Given the description of an element on the screen output the (x, y) to click on. 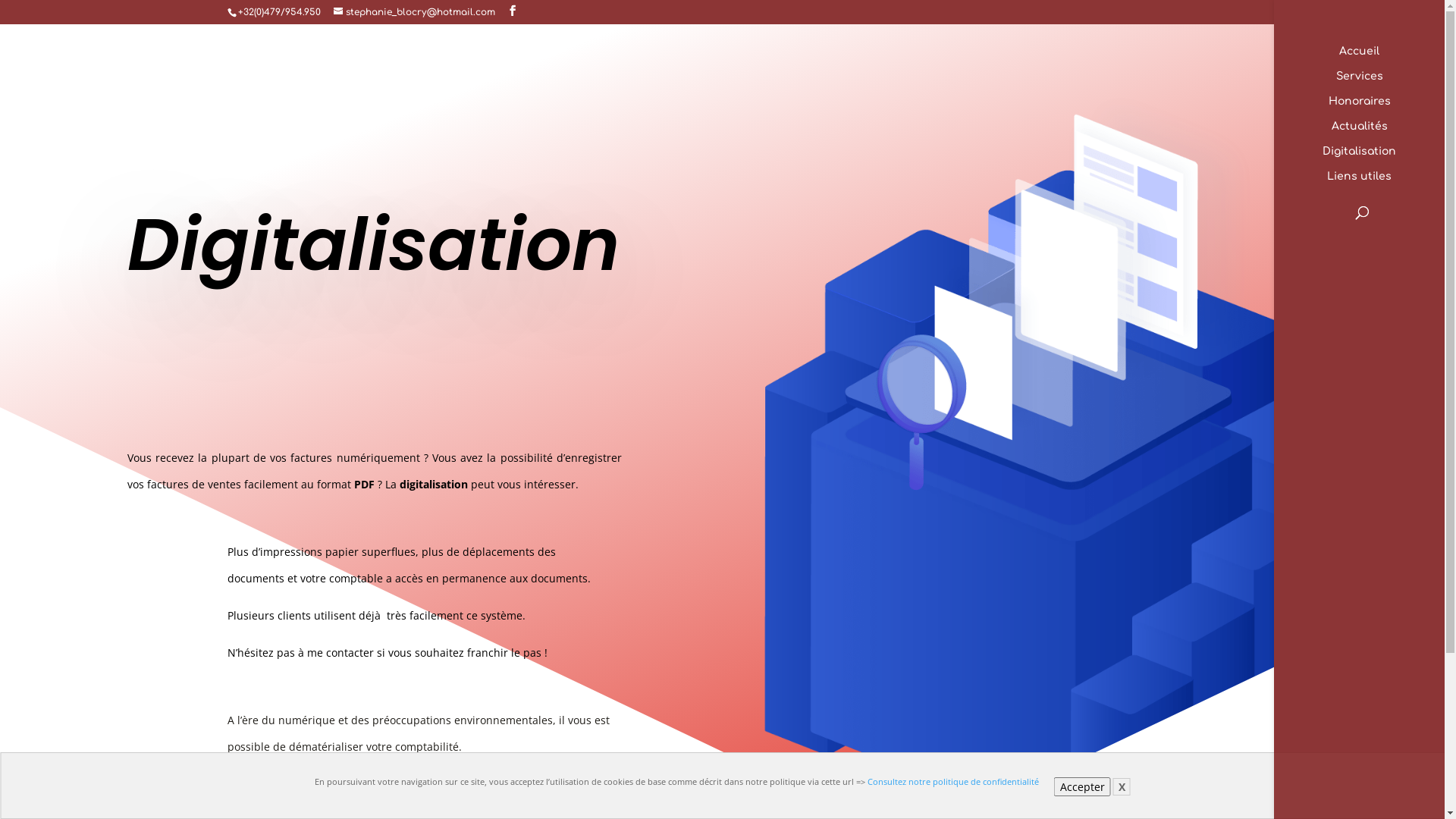
Services Element type: text (1374, 83)
Accueil Element type: text (1374, 58)
X Element type: text (1121, 786)
Liens utiles Element type: text (1374, 183)
stephanie_blocry@hotmail.com Element type: text (414, 11)
Honoraires Element type: text (1374, 108)
Accepter Element type: text (1082, 786)
Digitalisation Element type: text (1374, 158)
